Given the description of an element on the screen output the (x, y) to click on. 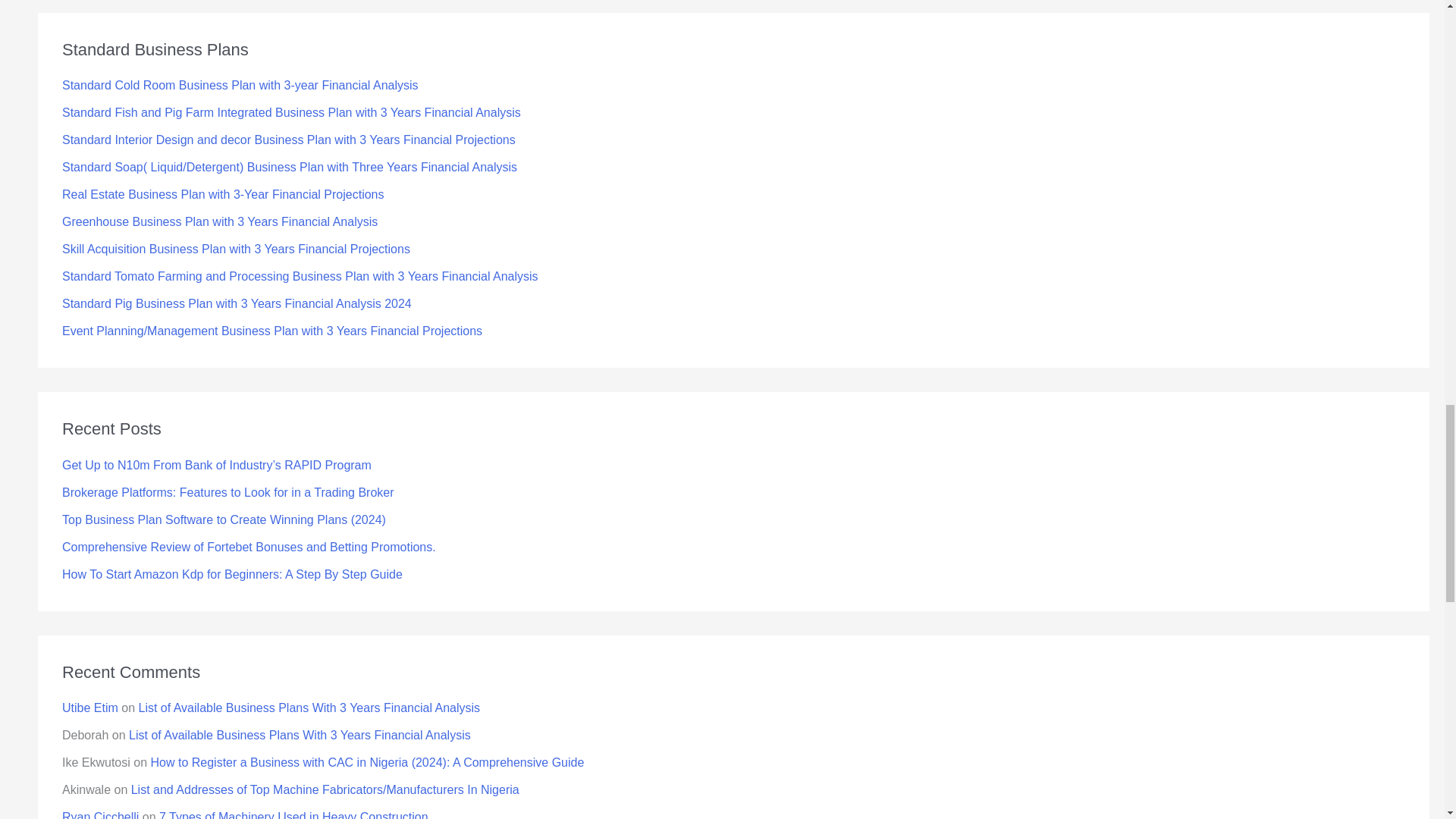
Greenhouse Business Plan with 3 Years Financial Analysis (219, 221)
Real Estate Business Plan with 3-Year Financial Projections (223, 194)
